Given the description of an element on the screen output the (x, y) to click on. 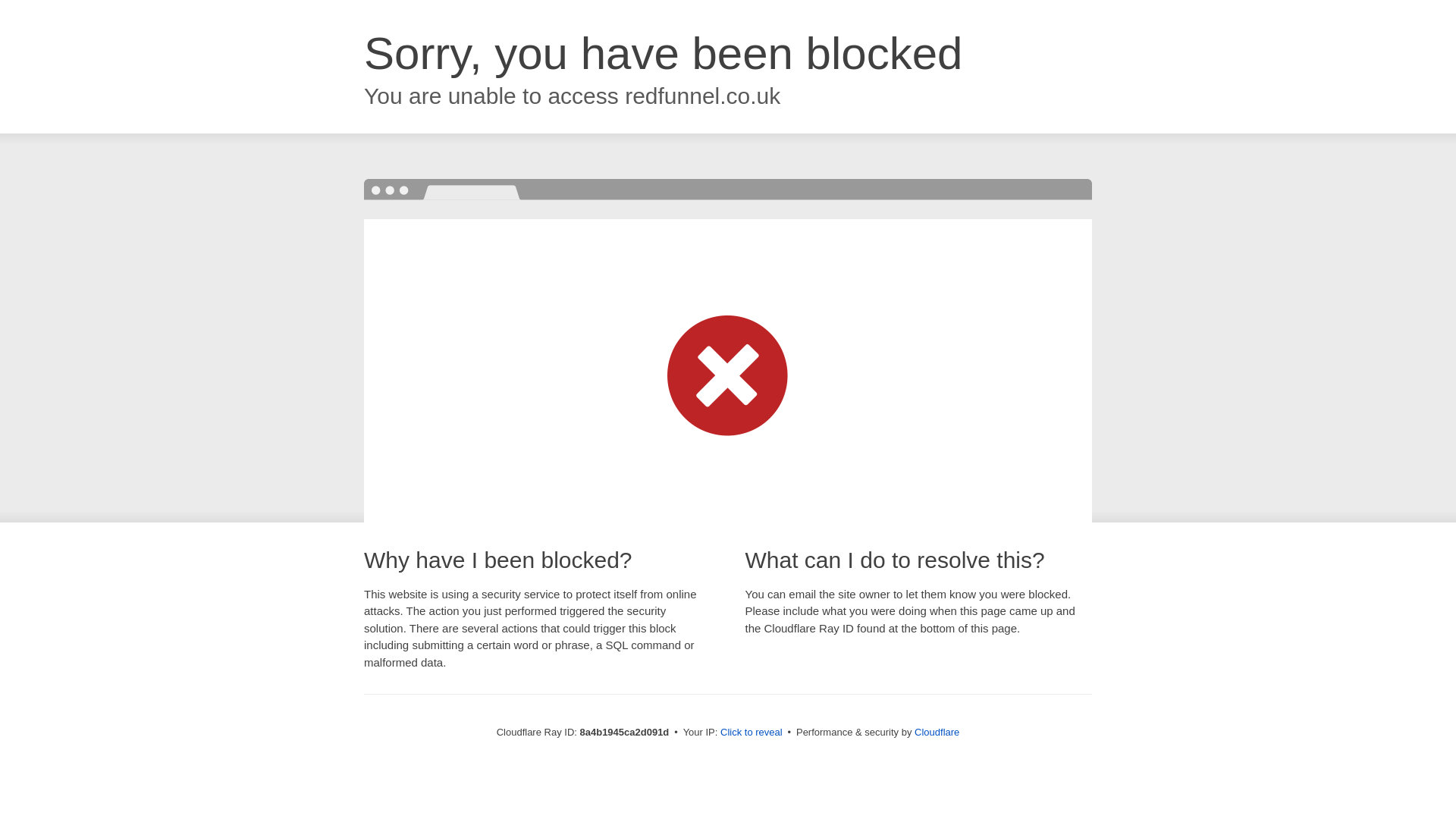
Cloudflare (936, 731)
Click to reveal (751, 732)
